Given the description of an element on the screen output the (x, y) to click on. 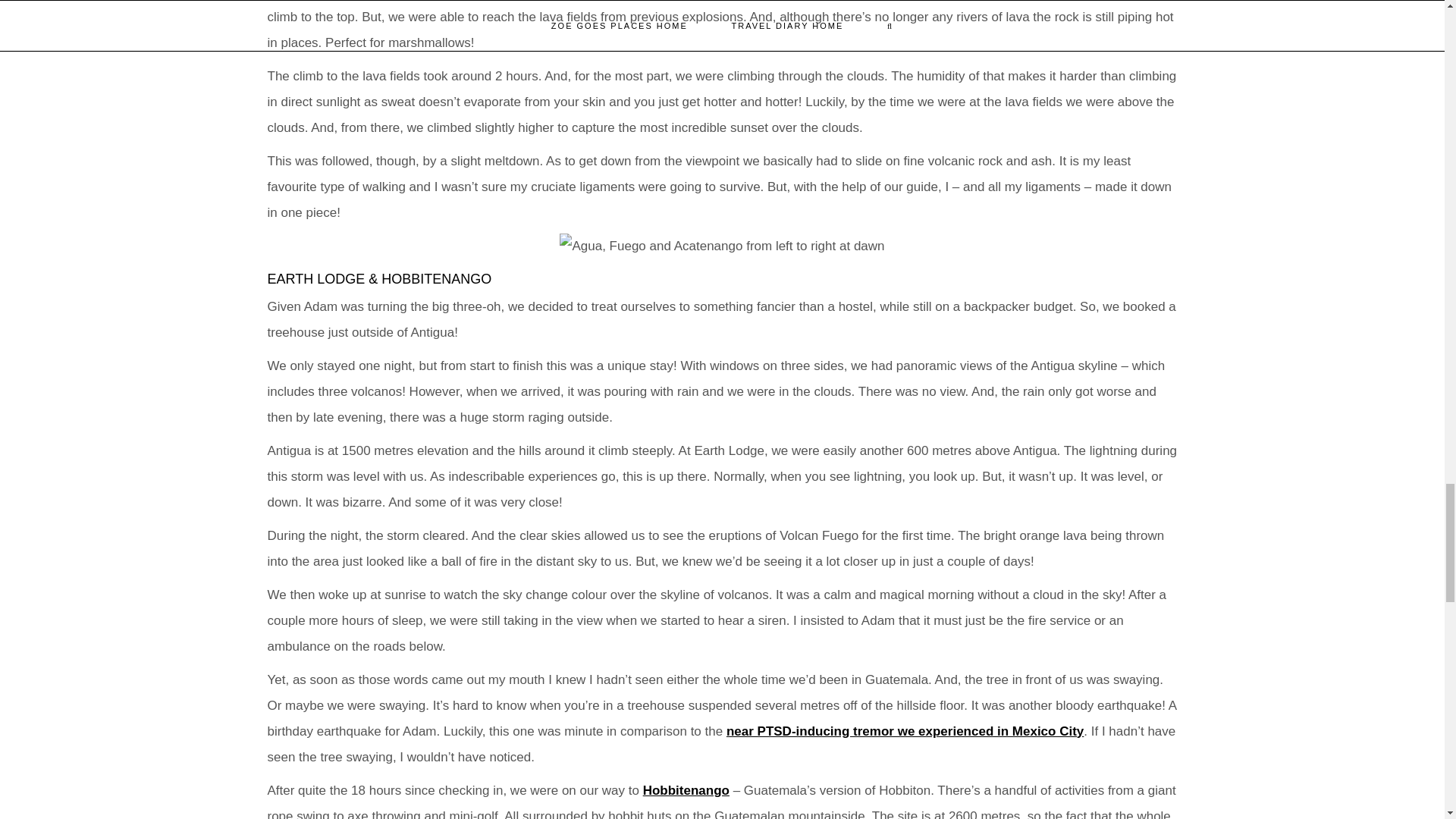
Hobbitenango (686, 789)
near PTSD-inducing tremor we experienced in Mexico City (904, 730)
